Given the description of an element on the screen output the (x, y) to click on. 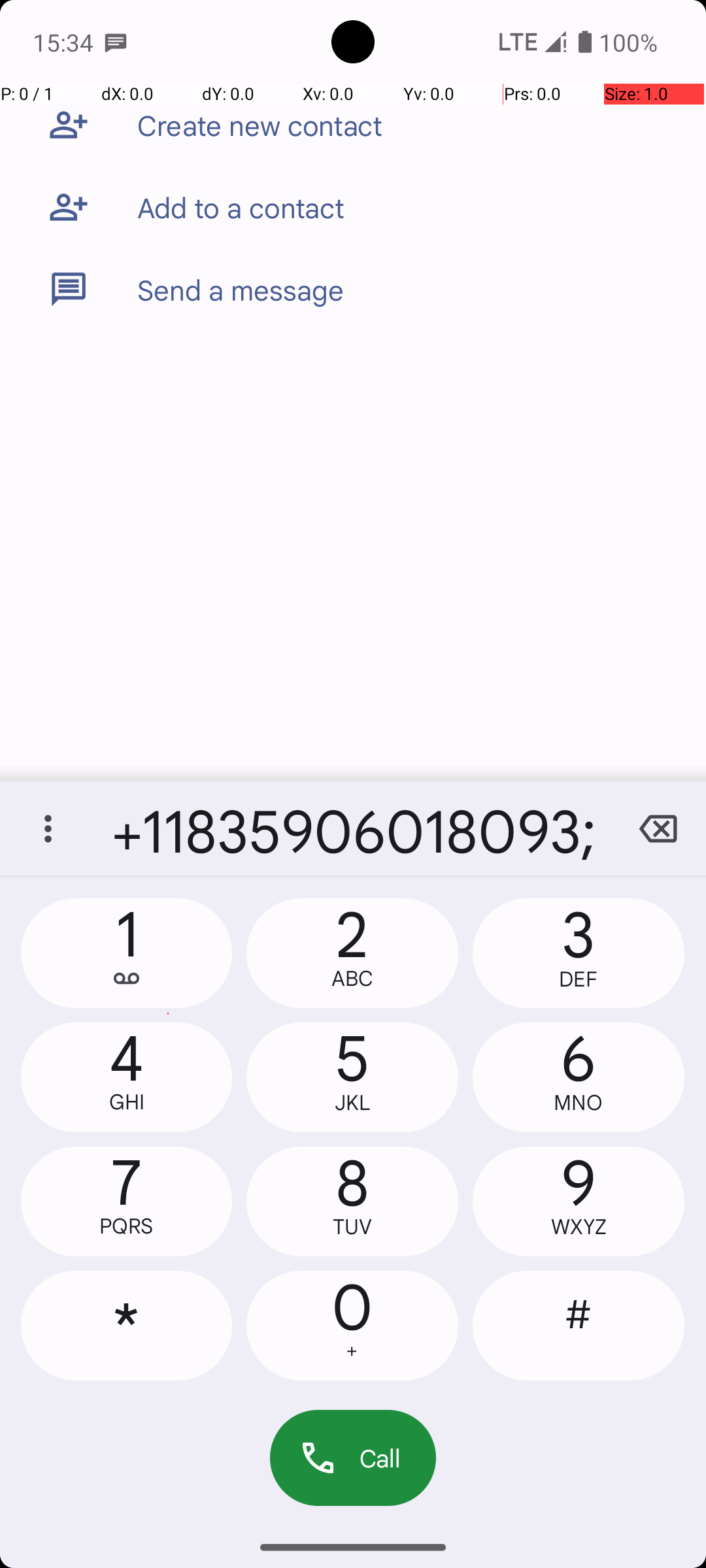
+11835906018093; Element type: android.widget.EditText (352, 828)
